Given the description of an element on the screen output the (x, y) to click on. 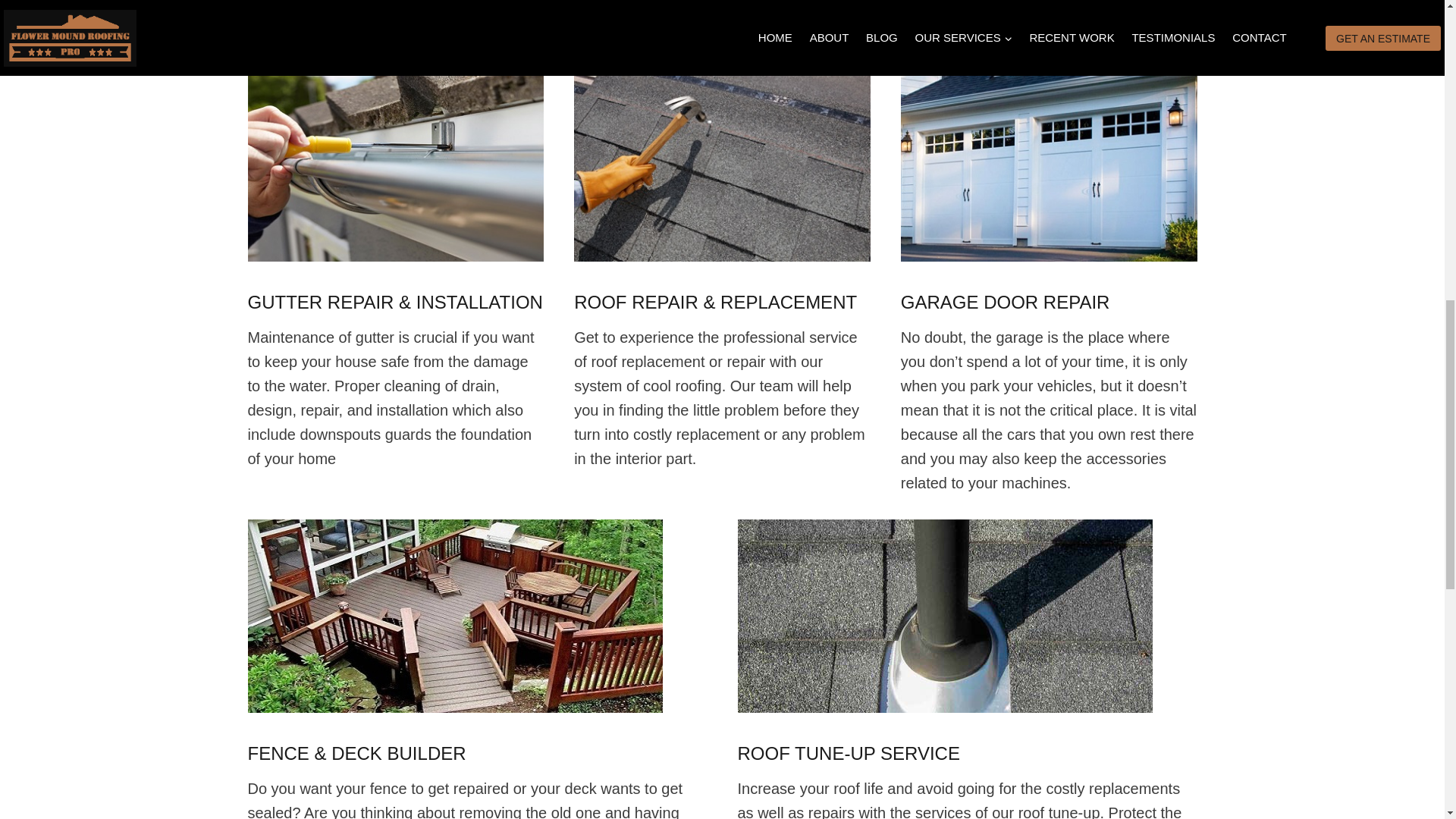
GARAGE DOOR REPAIR (1005, 301)
ROOF TUNE-UP SERVICE (847, 752)
